Given the description of an element on the screen output the (x, y) to click on. 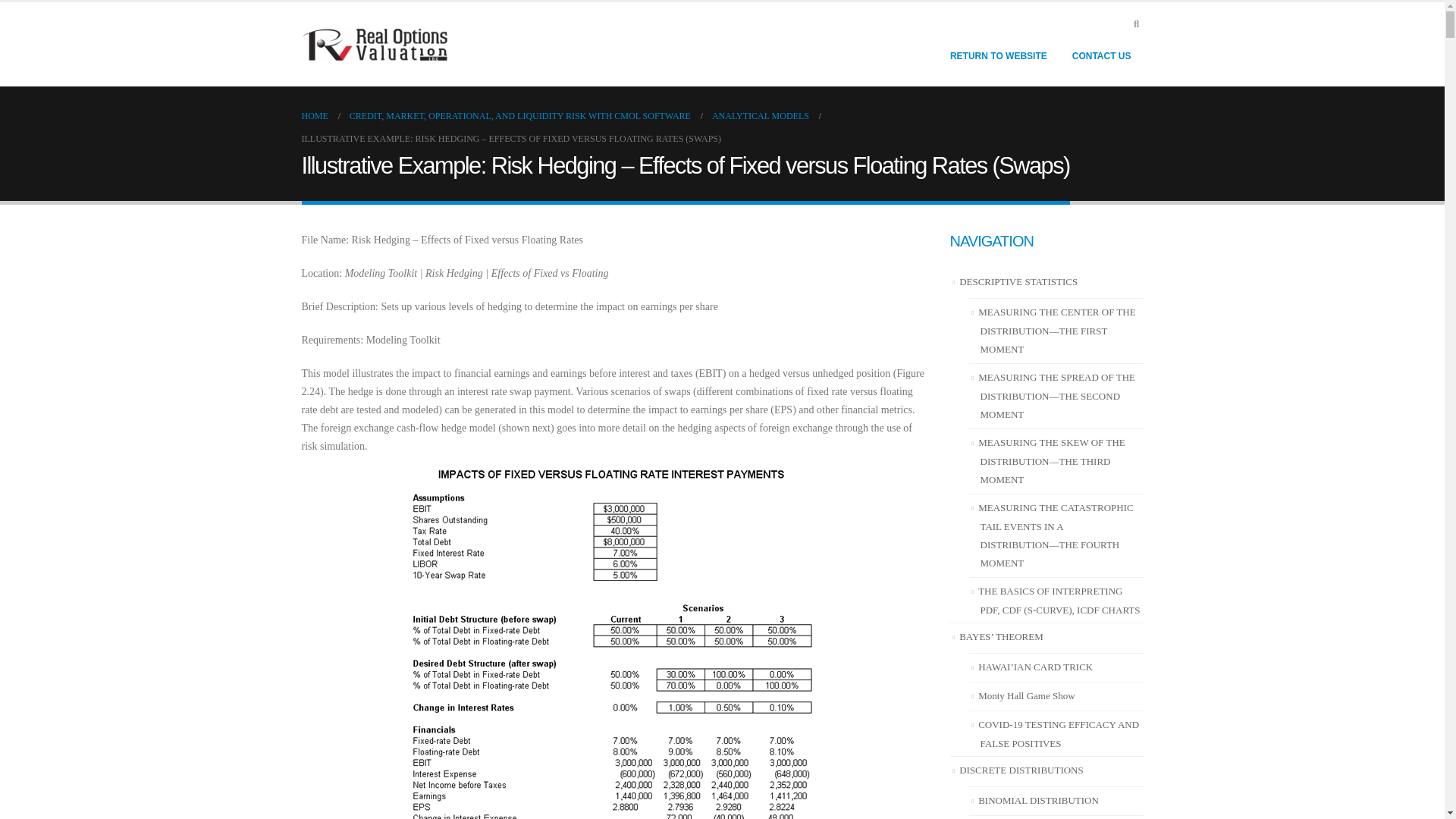
CONTACT US (1100, 55)
COVID-19 TESTING EFFICACY AND FALSE POSITIVES (1058, 734)
NAVIGATION (990, 240)
DESCRIPTIVE STATISTICS (1018, 281)
HOME (315, 116)
RETURN TO WEBSITE (998, 55)
BINOMIAL DISTRIBUTION (1038, 799)
Go to Home Page (315, 116)
ANALYTICAL MODELS (760, 116)
DISCRETE DISTRIBUTIONS (1021, 769)
Monty Hall Game Show (1026, 695)
